Given the description of an element on the screen output the (x, y) to click on. 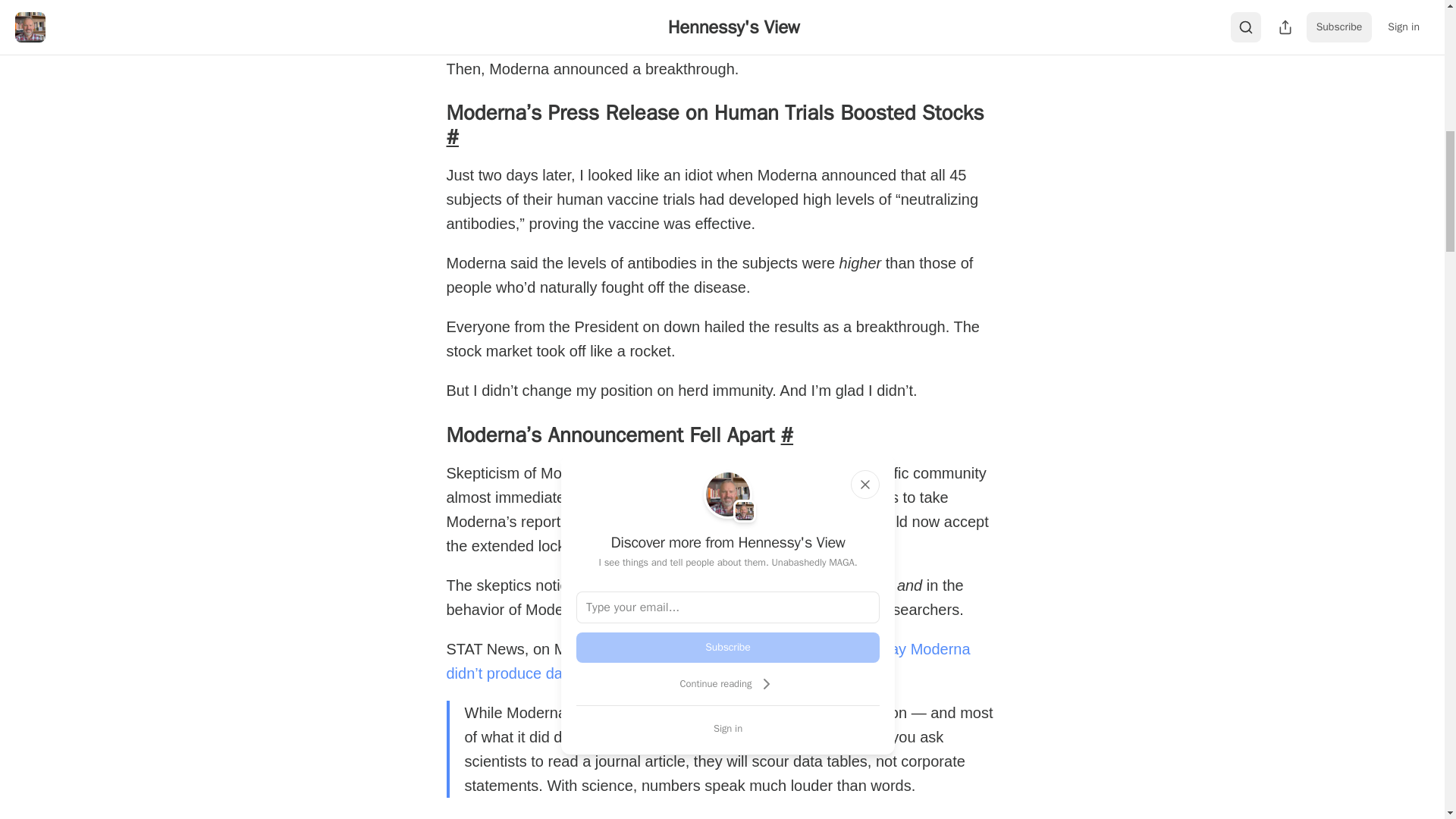
Subscribe (727, 647)
Sign in (727, 727)
